Given the description of an element on the screen output the (x, y) to click on. 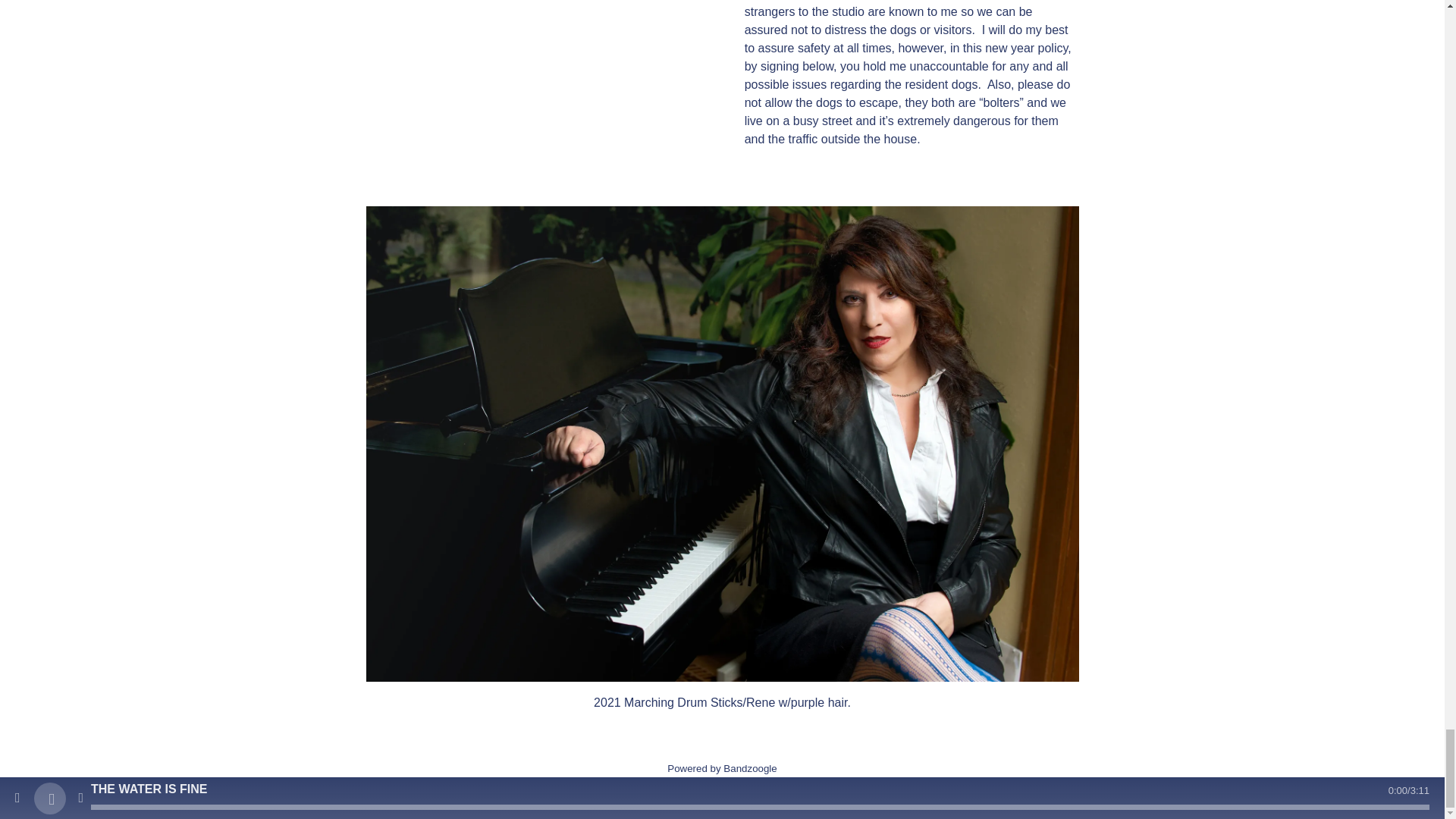
Powered by Bandzoogle (721, 767)
Powered by Bandzoogle (721, 767)
